Given the description of an element on the screen output the (x, y) to click on. 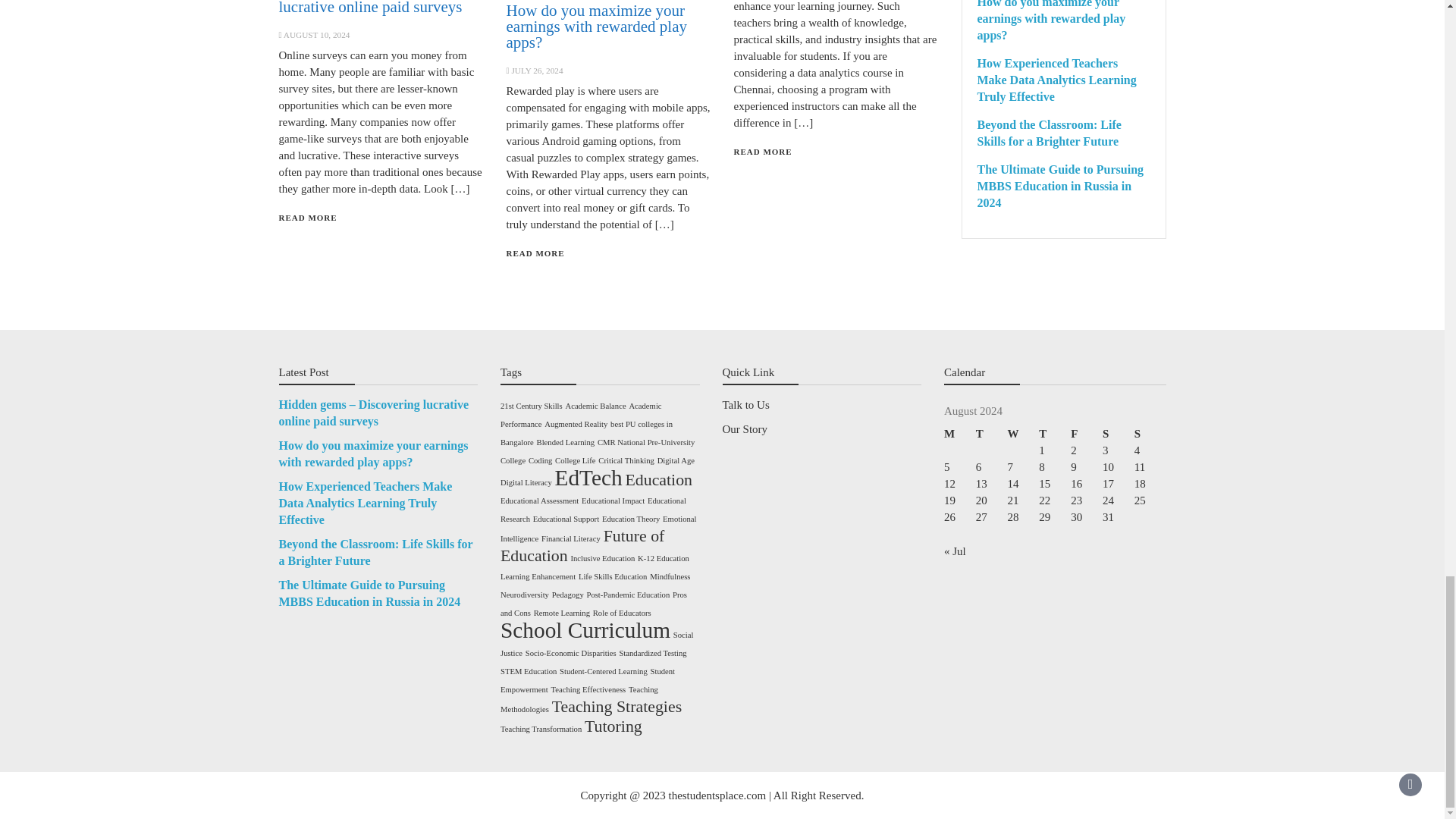
READ MORE (308, 216)
Saturday (1118, 433)
Monday (959, 433)
JULY 26, 2024 (536, 70)
Wednesday (1023, 433)
Tuesday (991, 433)
Thursday (1054, 433)
How do you maximize your earnings with rewarded play apps? (596, 26)
Friday (1086, 433)
Sunday (1150, 433)
